Given the description of an element on the screen output the (x, y) to click on. 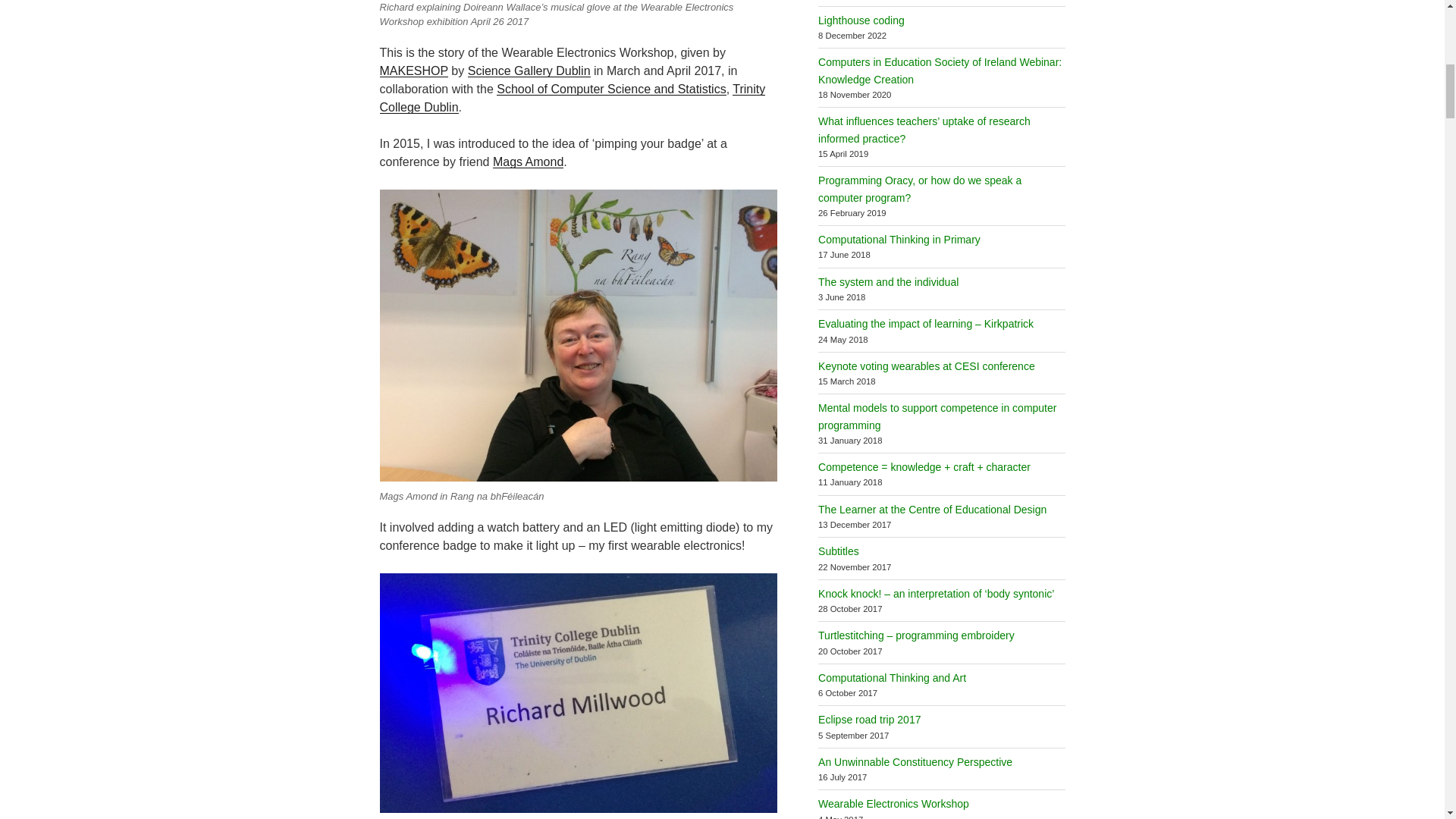
Mags Amond (528, 161)
MAKESHOP (412, 70)
School of Computer Science and Statistics (610, 88)
Trinity College Dublin (571, 97)
Science Gallery Dublin (529, 70)
